Given the description of an element on the screen output the (x, y) to click on. 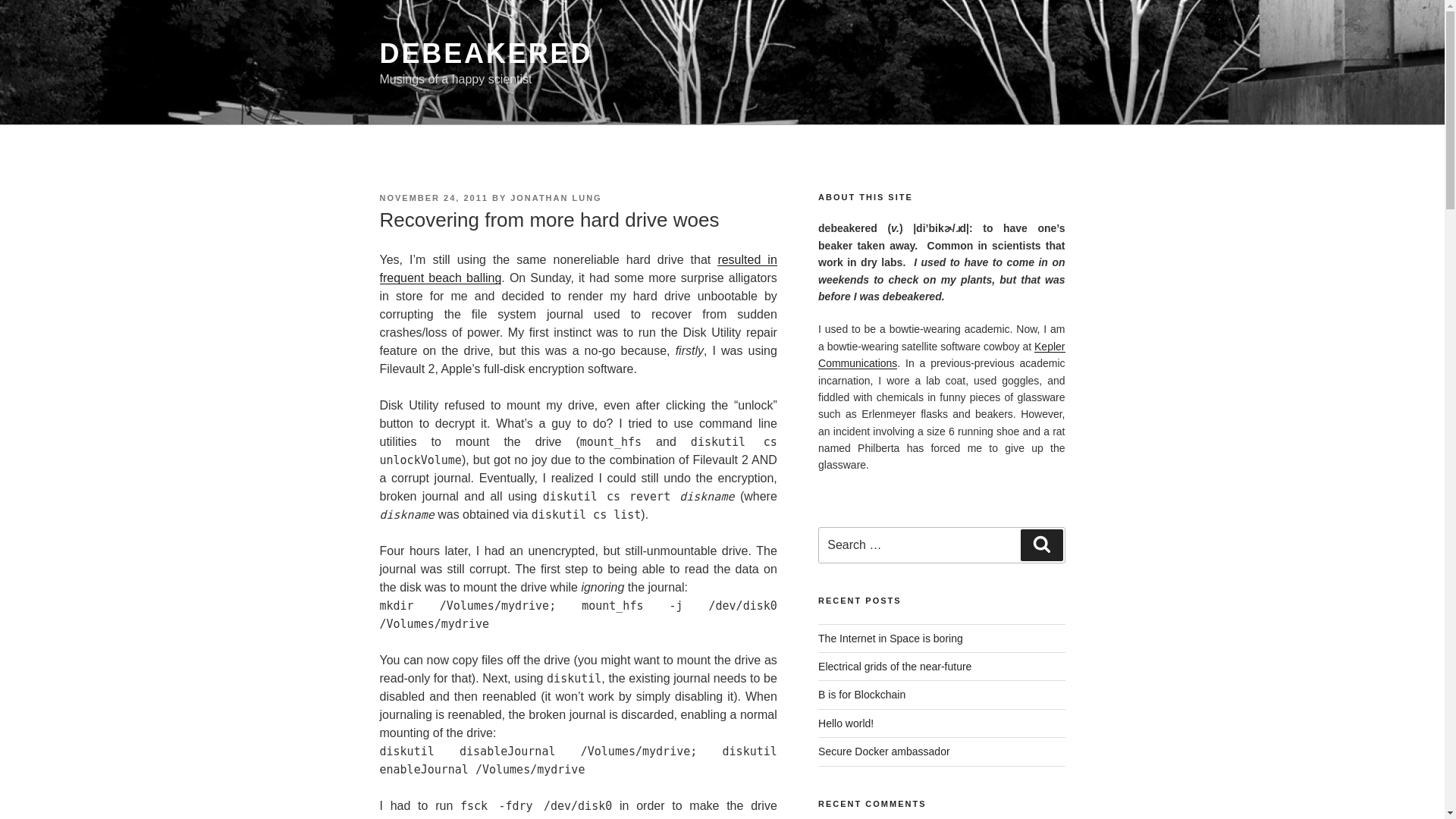
B is for Blockchain (861, 694)
The Internet in Space is boring (890, 638)
Kepler Communications (941, 354)
Secure Docker ambassador (884, 751)
NOVEMBER 24, 2011 (432, 197)
Electrical grids of the near-future (894, 666)
resulted in frequent beach balling (577, 268)
Search (1041, 545)
JONATHAN LUNG (556, 197)
DEBEAKERED (485, 52)
Hello world! (845, 723)
